Given the description of an element on the screen output the (x, y) to click on. 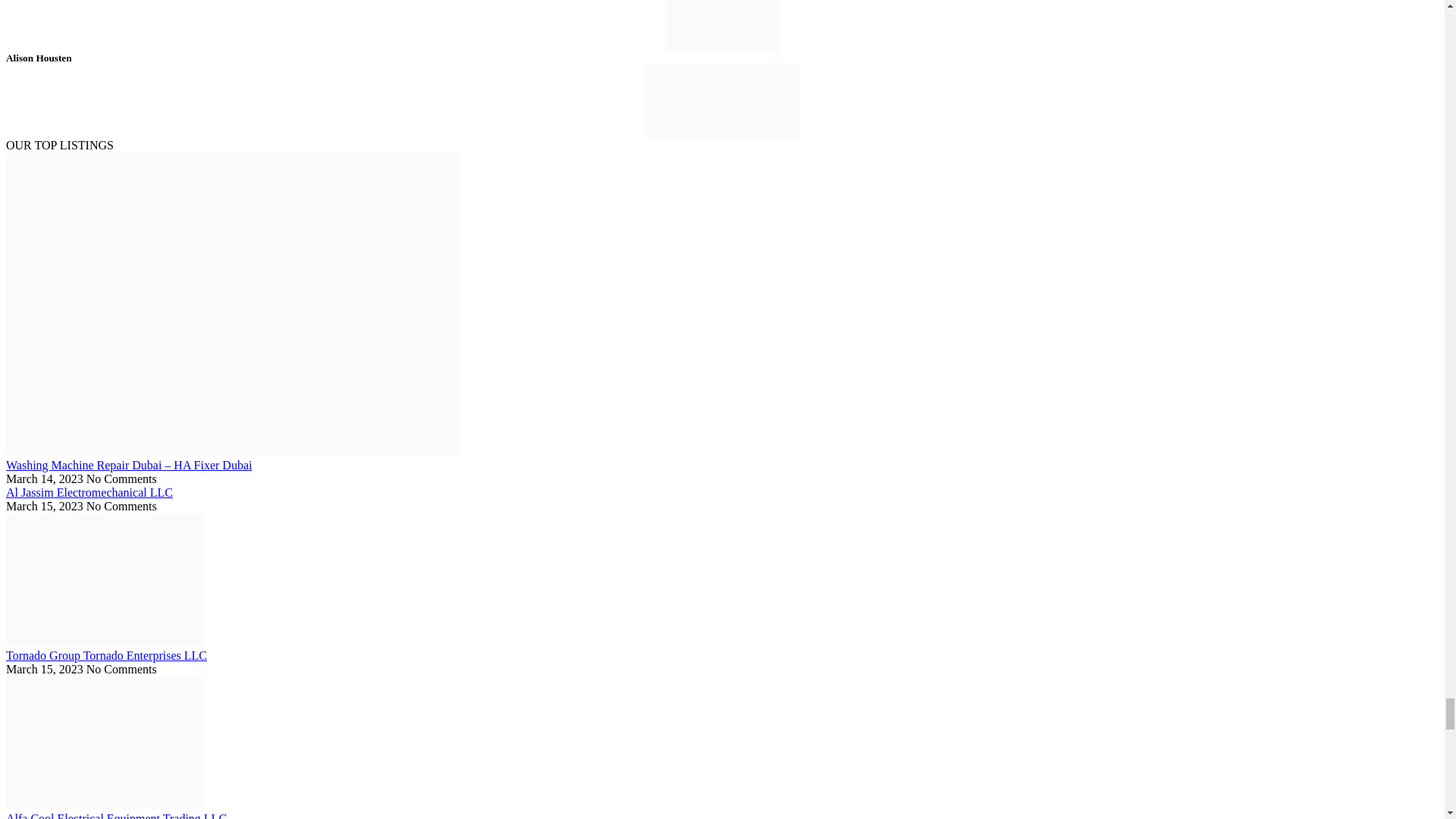
Al Jassim Electromechanical LLC (89, 492)
Tornado Group Tornado Enterprises LLC (105, 655)
Alfa Cool Electrical Equipment Trading LLC (116, 815)
